Given the description of an element on the screen output the (x, y) to click on. 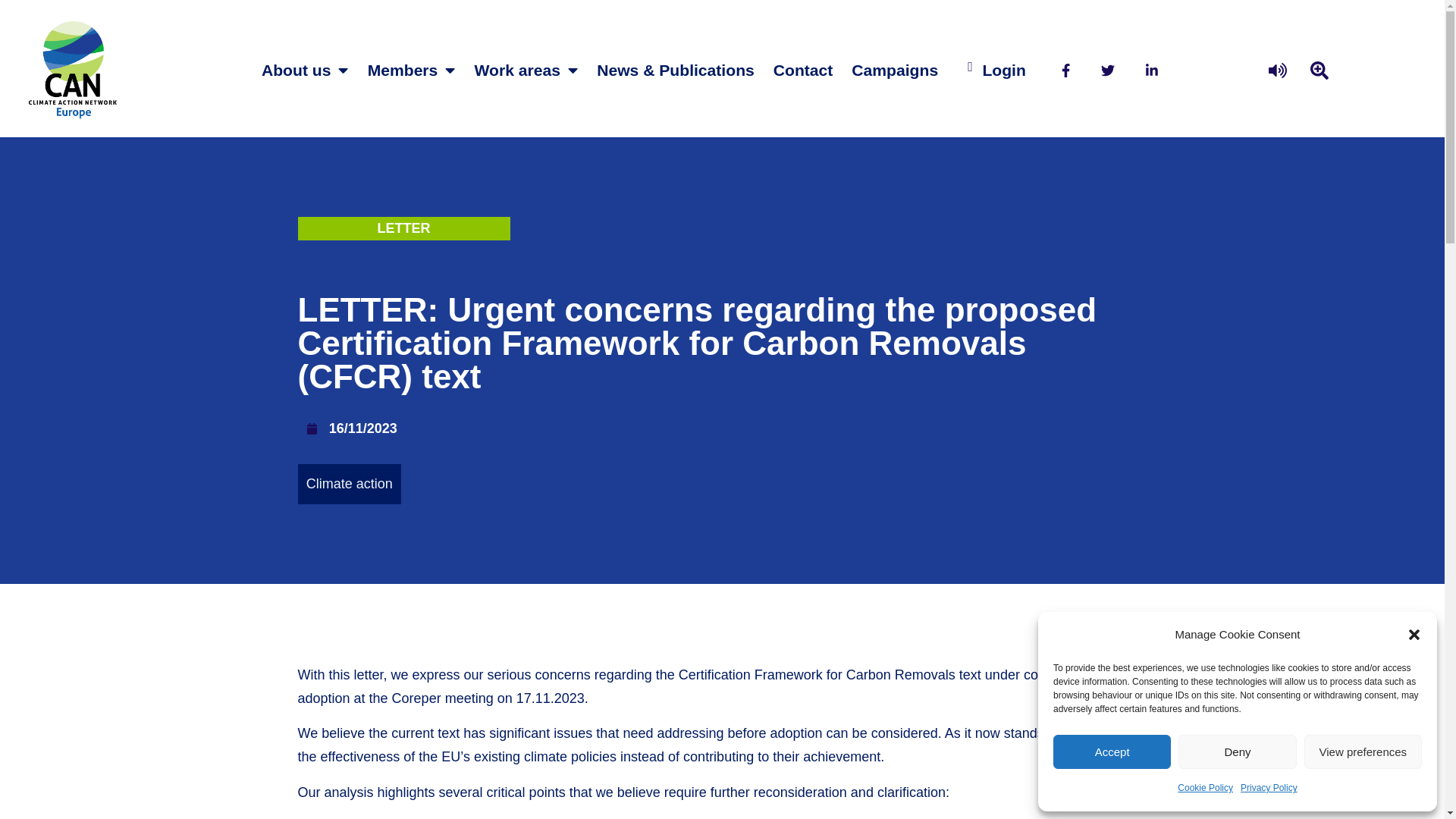
Deny (1236, 751)
About us (304, 69)
Login (1002, 69)
Campaigns (895, 69)
Work areas (526, 69)
Members (411, 69)
Contact (803, 69)
Cookie Policy (1205, 788)
Accept (1111, 751)
View preferences (1363, 751)
Privacy Policy (1268, 788)
